Given the description of an element on the screen output the (x, y) to click on. 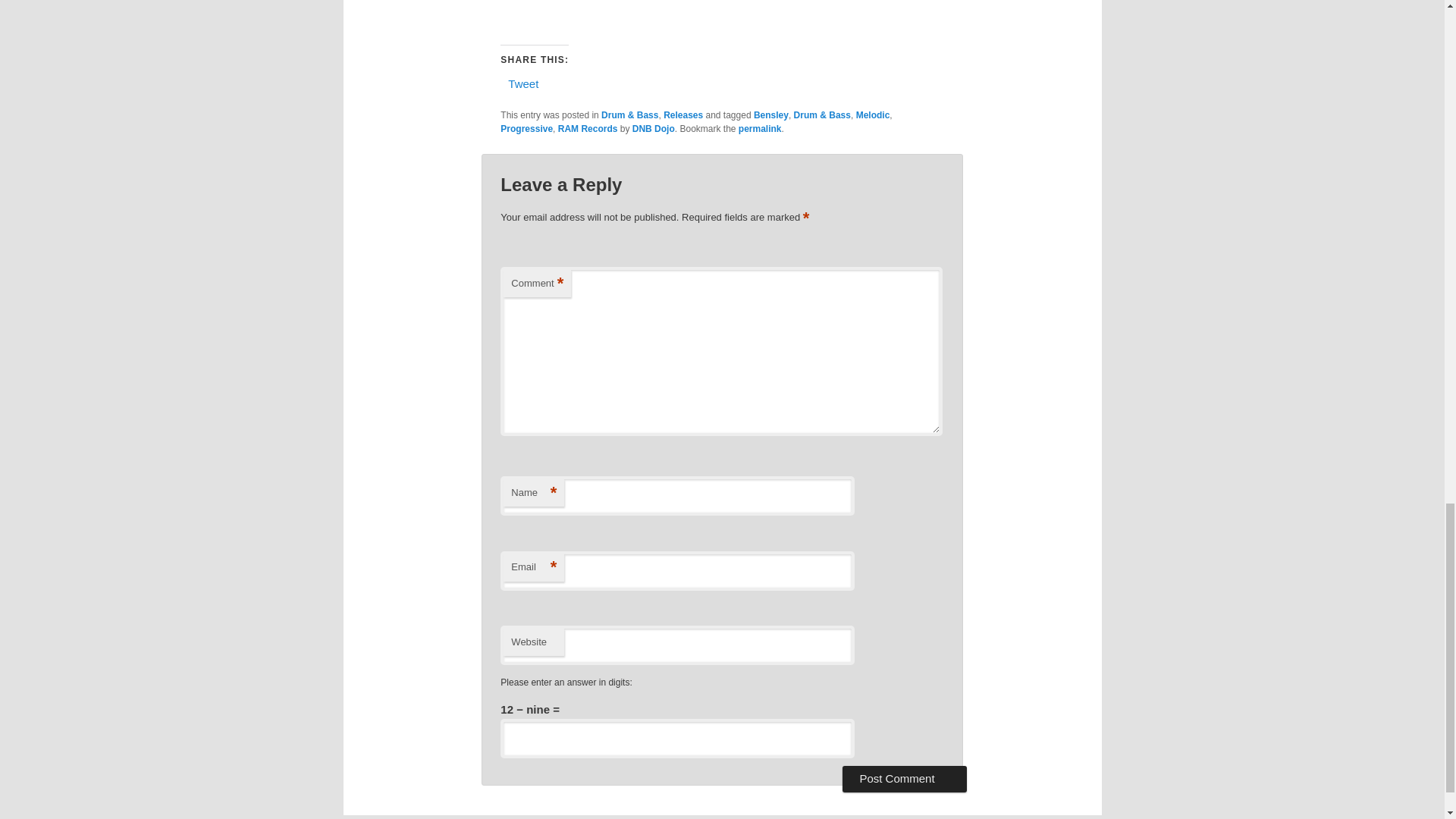
RAM Records (587, 128)
Post Comment (904, 778)
permalink (759, 128)
Releases (683, 114)
Bensley (771, 114)
DNB Dojo (653, 128)
Melodic (872, 114)
Tweet (523, 83)
Post Comment (904, 778)
Progressive (526, 128)
